Given the description of an element on the screen output the (x, y) to click on. 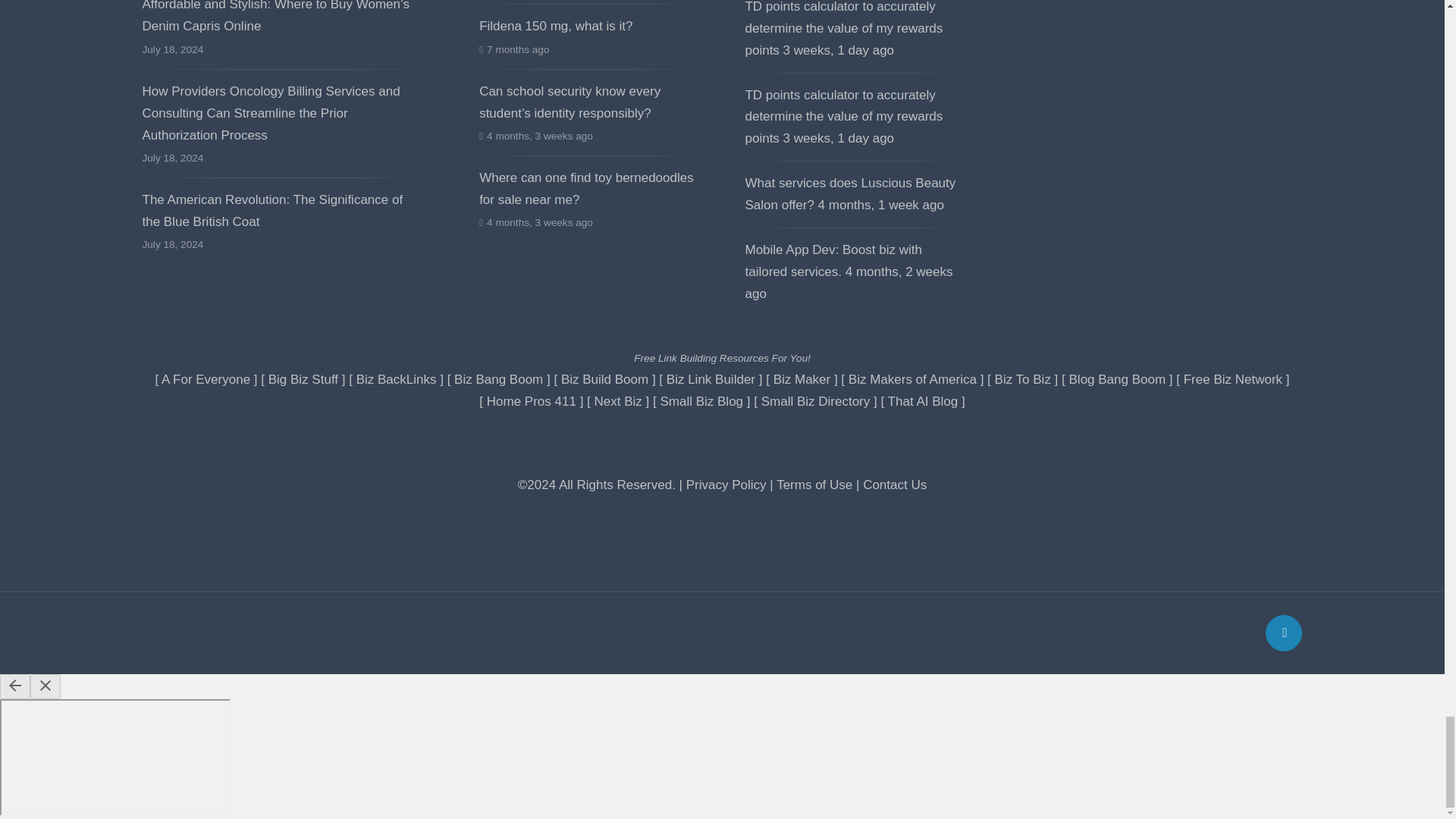
Big Biz Stuff - FREE Link building. (302, 379)
Biz BackLinks - FREE Link building. (396, 379)
A For Everyone - FREE Link building. (205, 379)
Biz Bang Boom - FREE Link building. (498, 379)
